Given the description of an element on the screen output the (x, y) to click on. 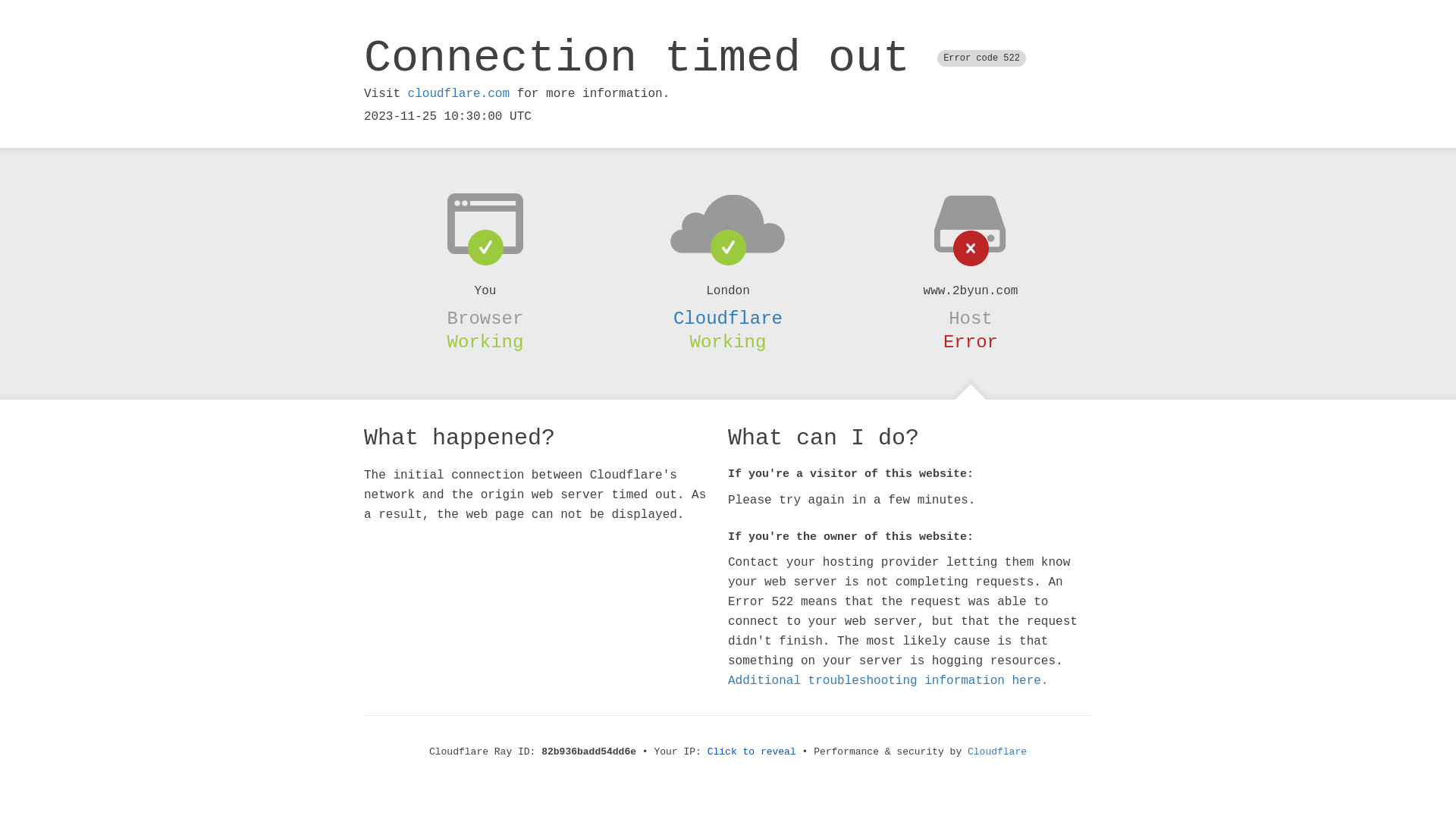
Additional troubleshooting information here. Element type: text (888, 680)
Cloudflare Element type: text (727, 318)
Cloudflare Element type: text (996, 751)
cloudflare.com Element type: text (458, 93)
Click to reveal Element type: text (751, 751)
